Given the description of an element on the screen output the (x, y) to click on. 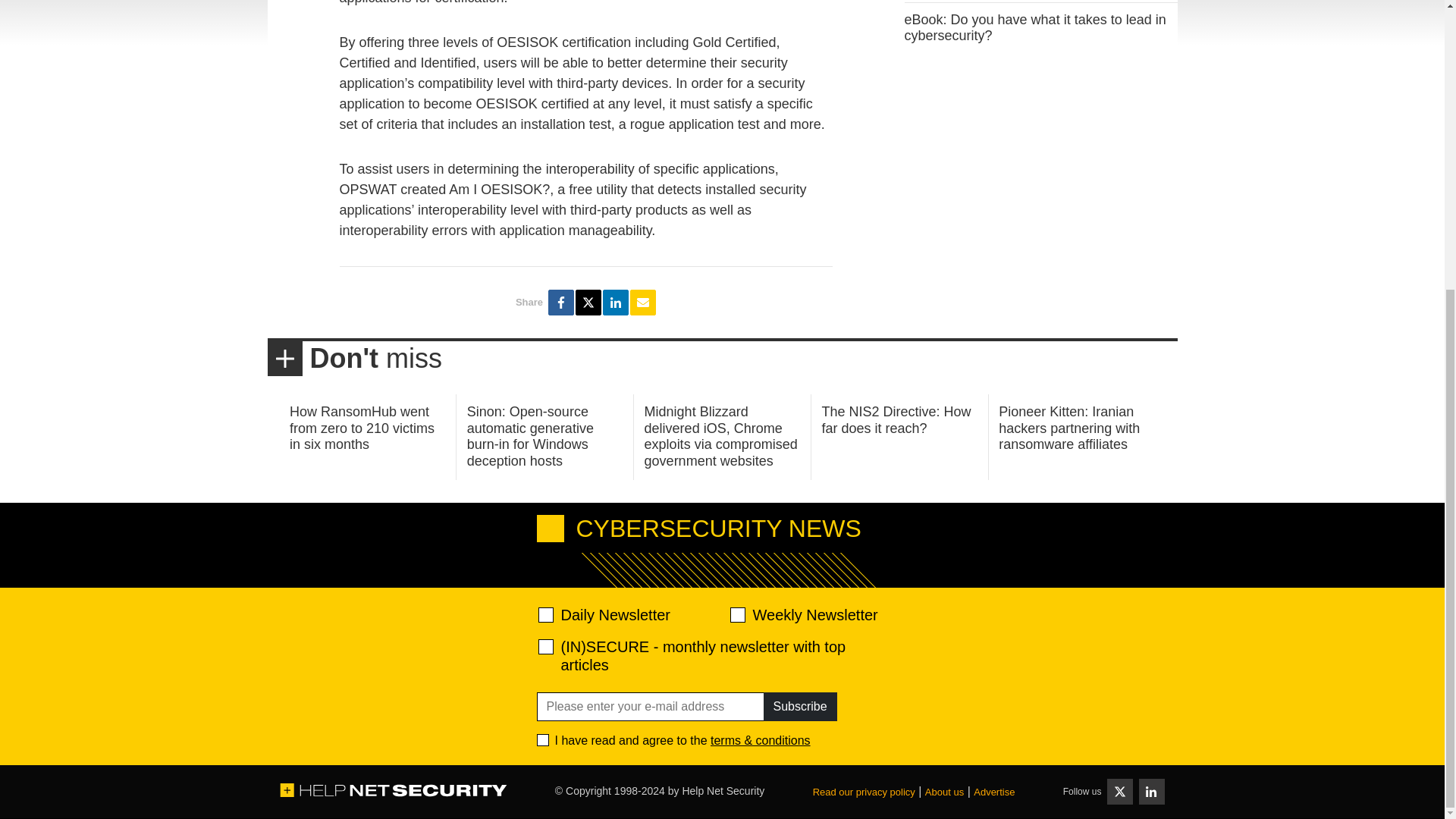
eBook: Do you have what it takes to lead in cybersecurity? (1035, 28)
1 (542, 739)
Subscribe (798, 706)
28abe5d9ef (545, 646)
The NIS2 Directive: How far does it reach? (896, 419)
